Given the description of an element on the screen output the (x, y) to click on. 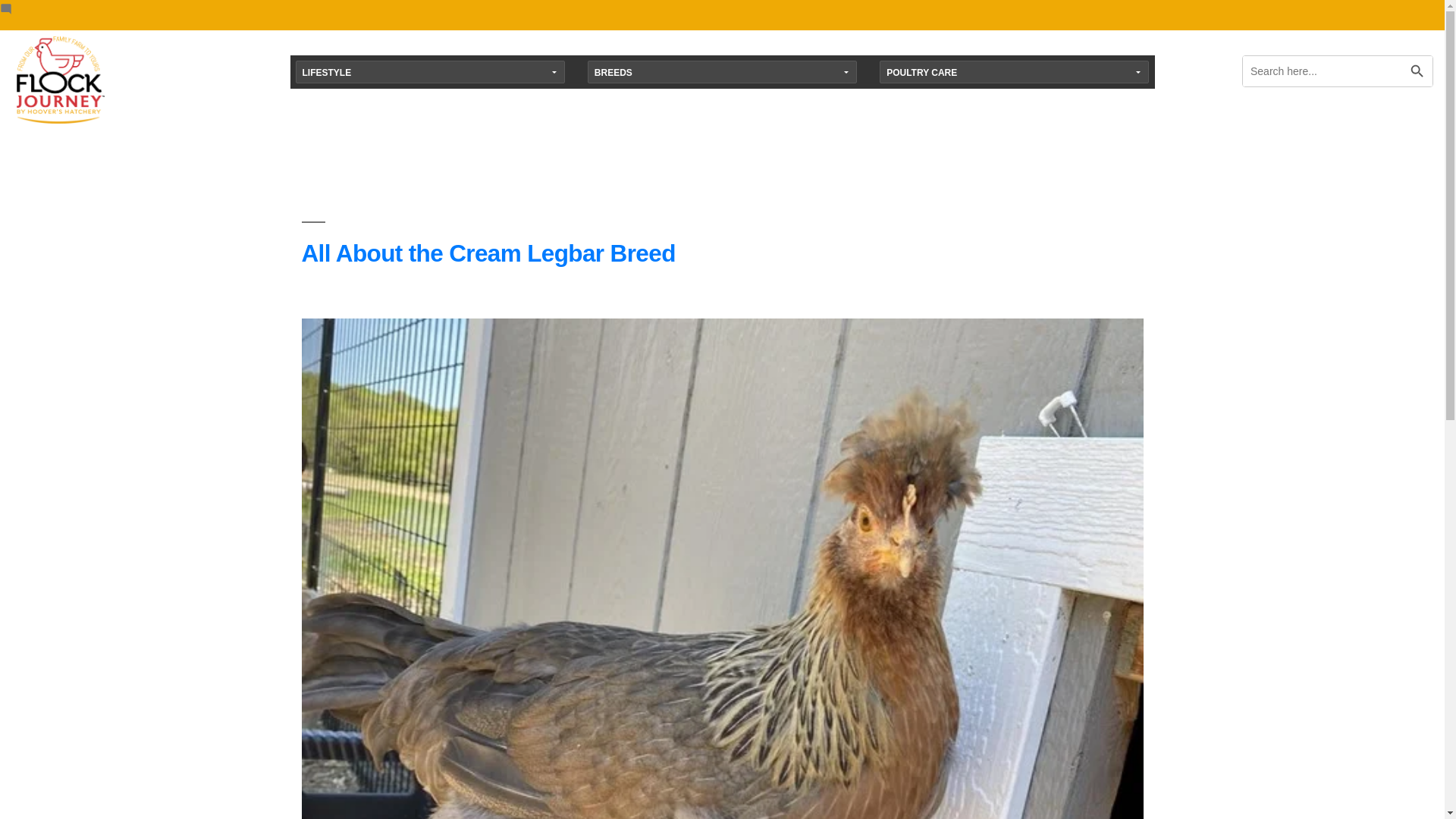
LIFESTYLE (429, 71)
Search Button (1417, 65)
BREEDS (722, 71)
